Given the description of an element on the screen output the (x, y) to click on. 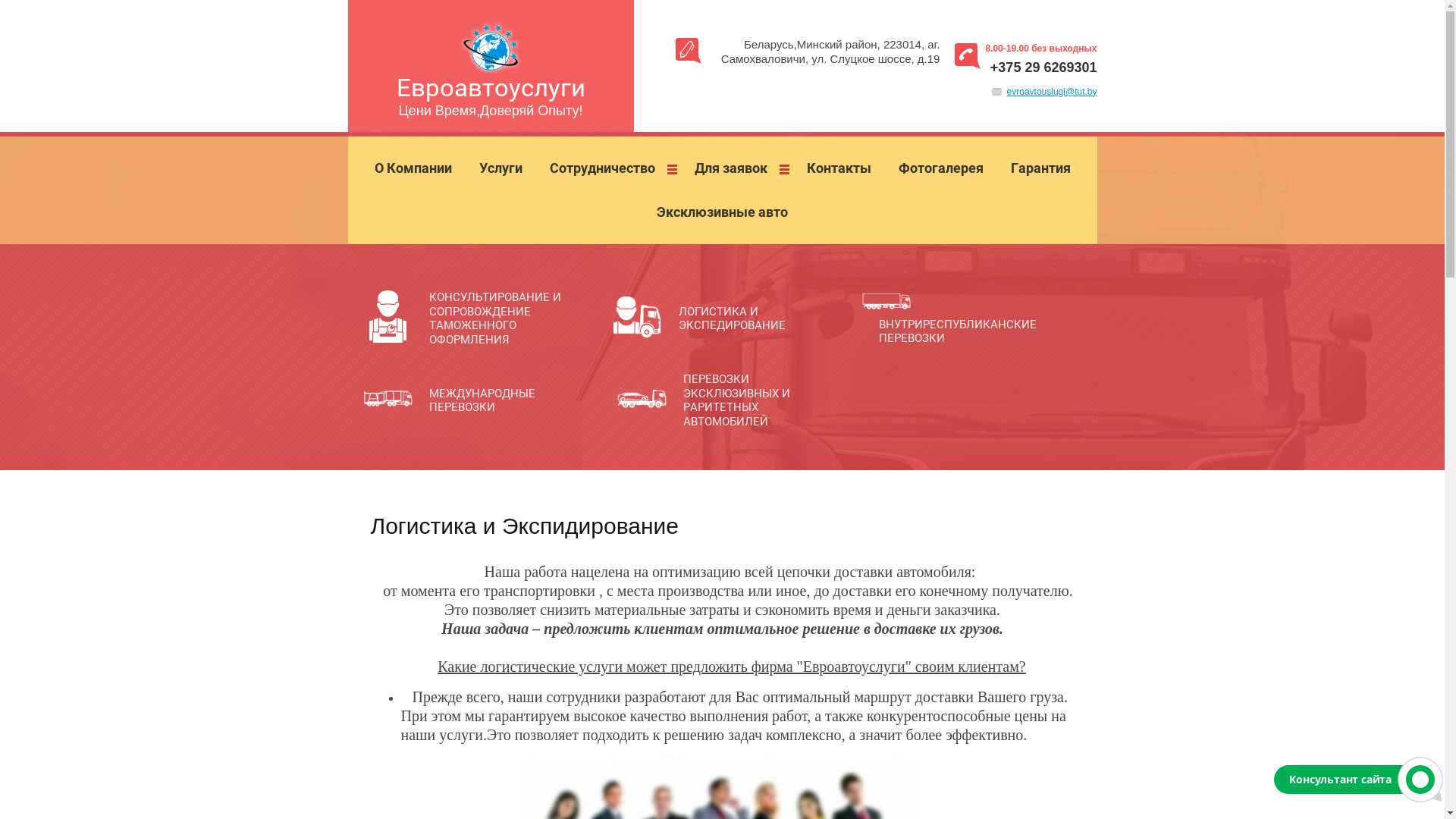
evroavtouslugi@tut.by Element type: text (1052, 91)
+375 29 6269301 Element type: text (1043, 67)
